Given the description of an element on the screen output the (x, y) to click on. 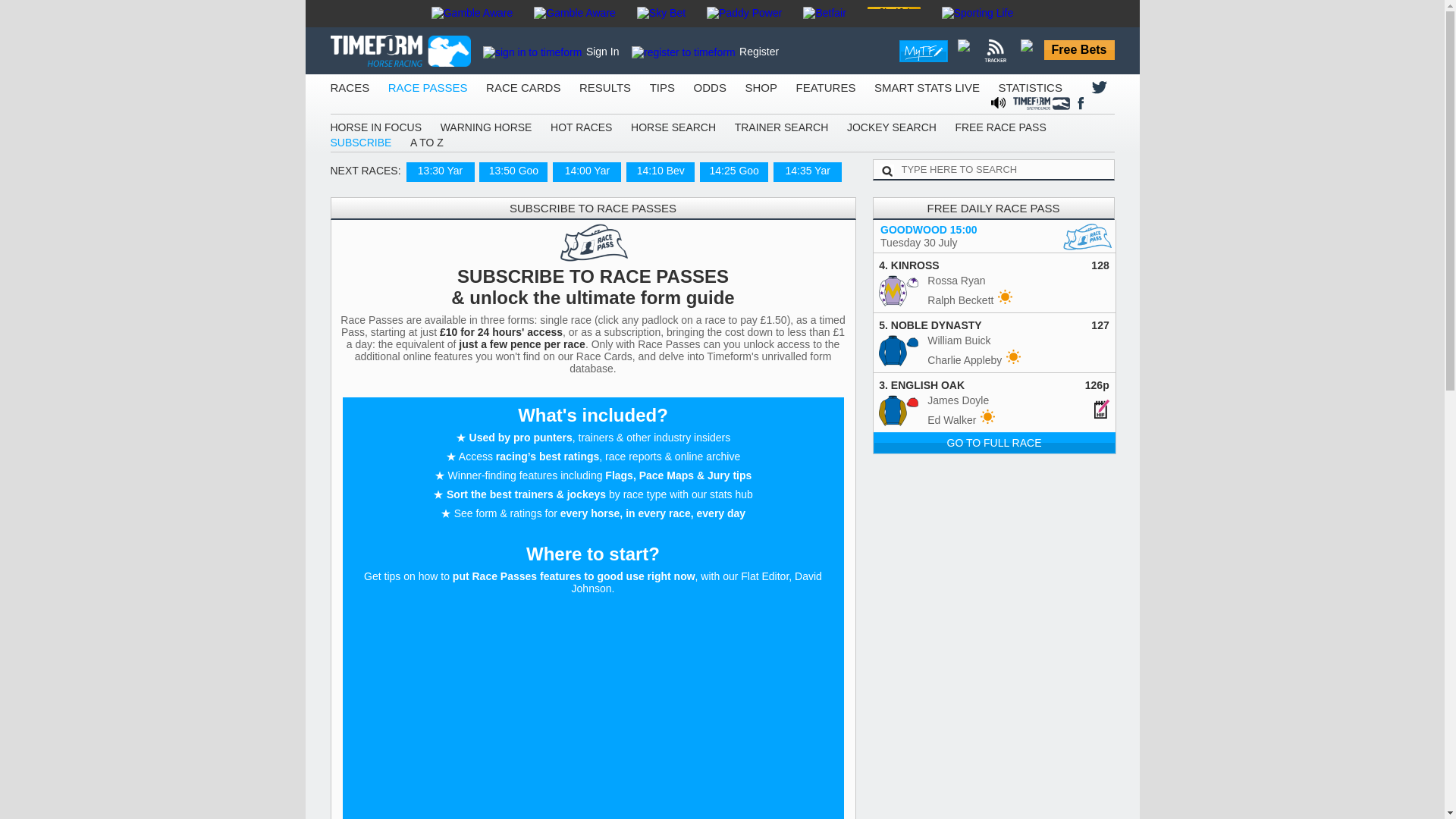
TIPS (662, 87)
YouTube video player (592, 709)
FEATURES (826, 87)
JOCKEY SEARCH (891, 127)
RACE CARDS (523, 87)
RACE PASSES (427, 87)
Hot Trainer (1003, 296)
HORSE SEARCH (673, 127)
STATISTICS (1029, 87)
SHOP (760, 87)
RACES (349, 87)
FREE RACE PASS (1000, 127)
WARNING HORSE (486, 127)
ODDS (710, 87)
HORSE IN FOCUS (376, 127)
